Given the description of an element on the screen output the (x, y) to click on. 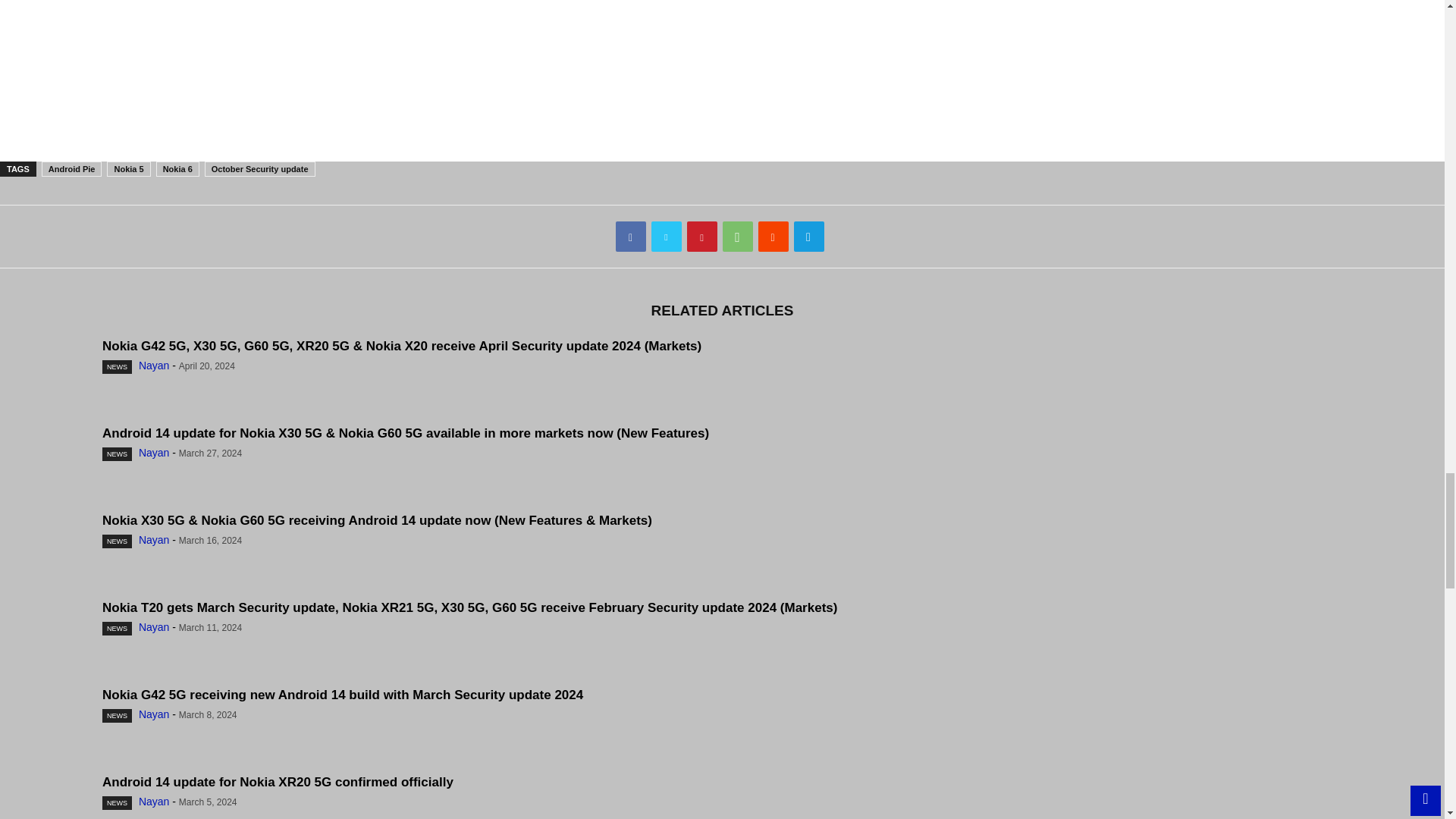
Nokia 6 (177, 168)
October Security update (260, 168)
ReddIt (773, 236)
Pinterest (702, 236)
Telegram (808, 236)
Twitter (665, 236)
Nayan (153, 365)
Android Pie (71, 168)
WhatsApp (737, 236)
NEWS (116, 454)
Nokia 5 (127, 168)
Facebook (630, 236)
NEWS (116, 366)
Nayan (153, 452)
